Given the description of an element on the screen output the (x, y) to click on. 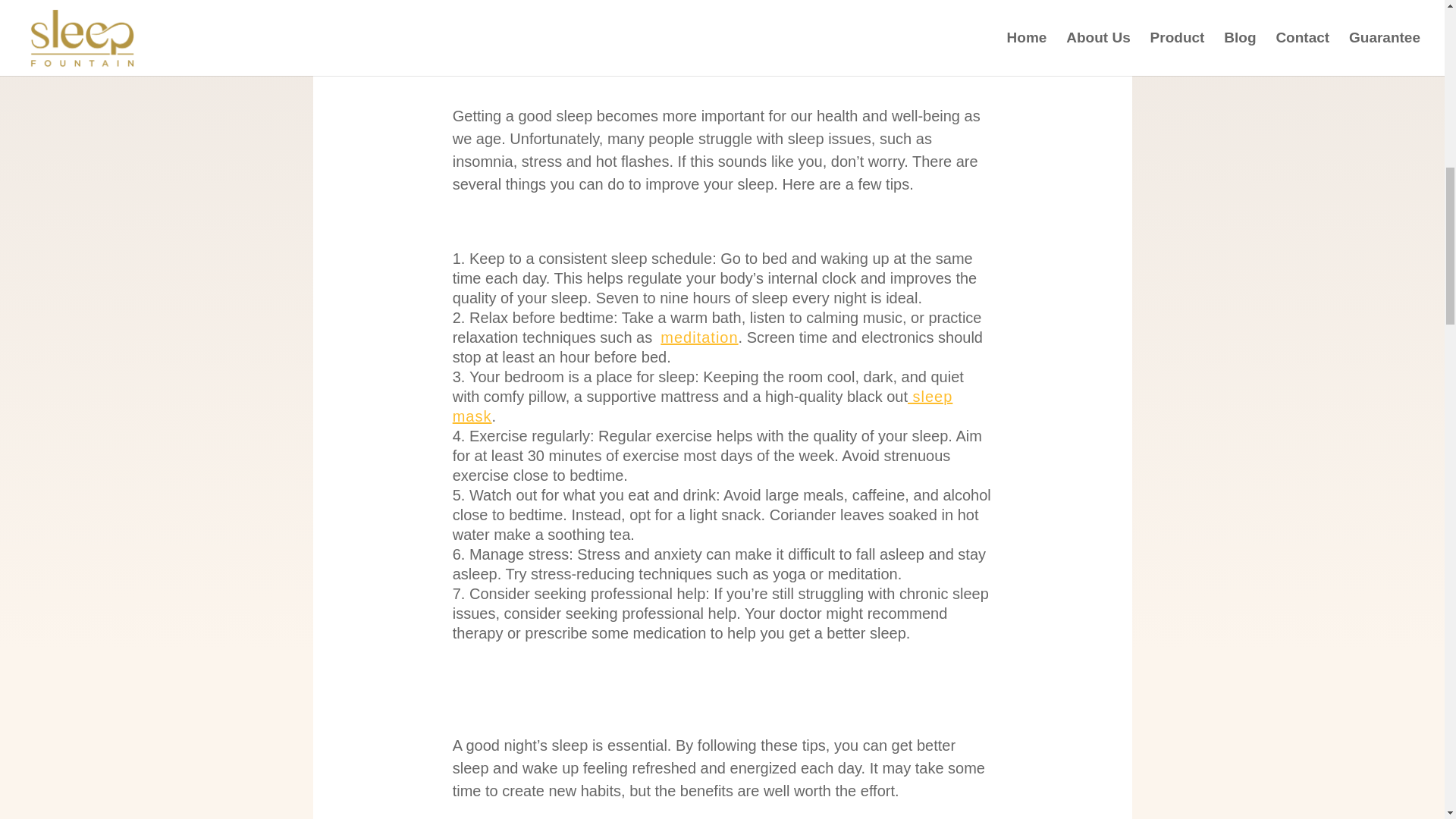
meditation (699, 337)
sleep mask (702, 406)
